Given the description of an element on the screen output the (x, y) to click on. 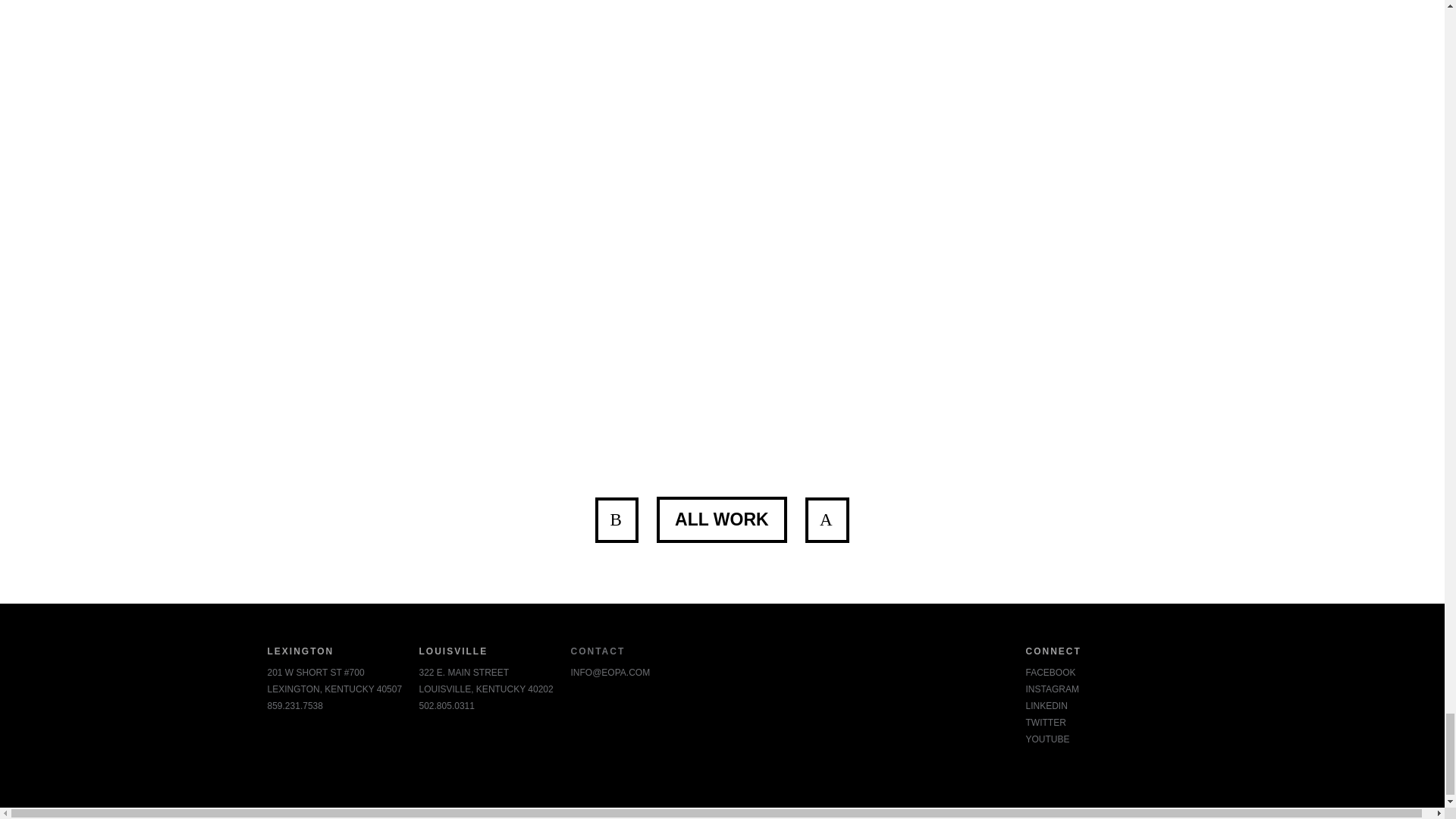
TWITTER (1045, 722)
859.231.7538 (293, 706)
INSTAGRAM (1051, 688)
502.805.0311 (446, 706)
YOUTUBE (1046, 738)
CONTACT (597, 651)
FACEBOOK (1050, 672)
LINKEDIN (1046, 706)
ALL WORK (721, 519)
